Given the description of an element on the screen output the (x, y) to click on. 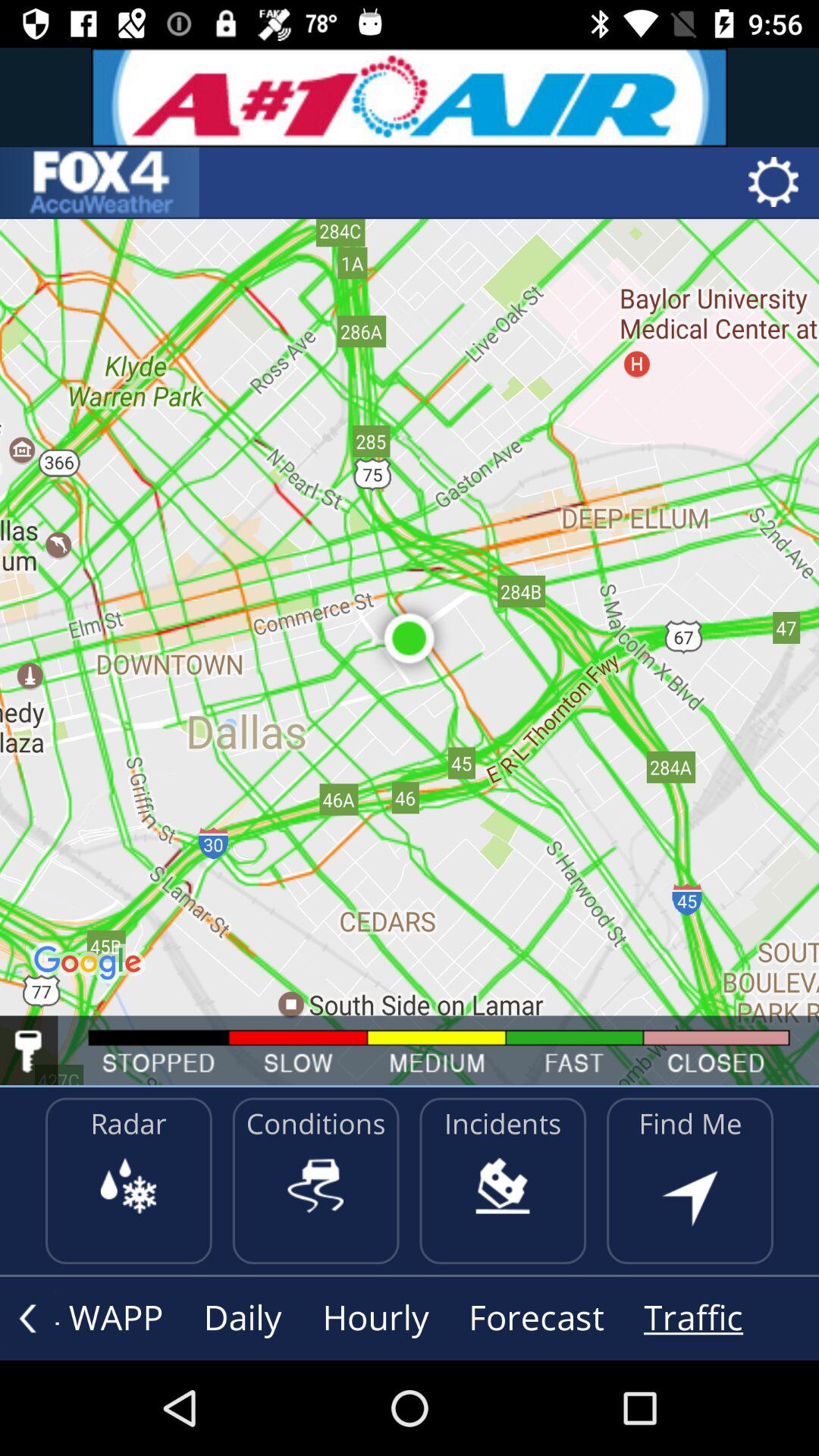
go to previous (27, 1318)
